Given the description of an element on the screen output the (x, y) to click on. 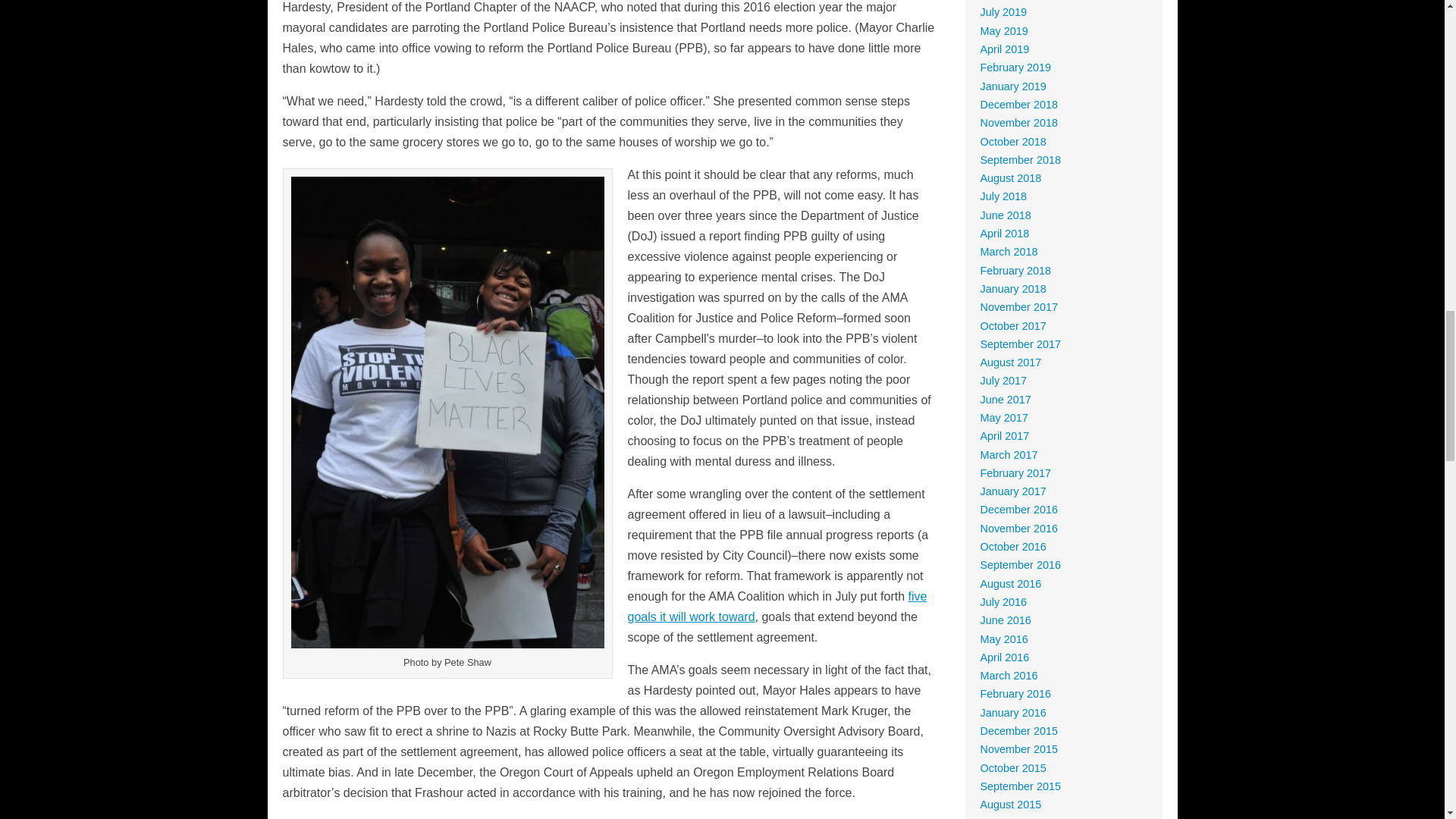
five goals it will work toward (777, 606)
